Given the description of an element on the screen output the (x, y) to click on. 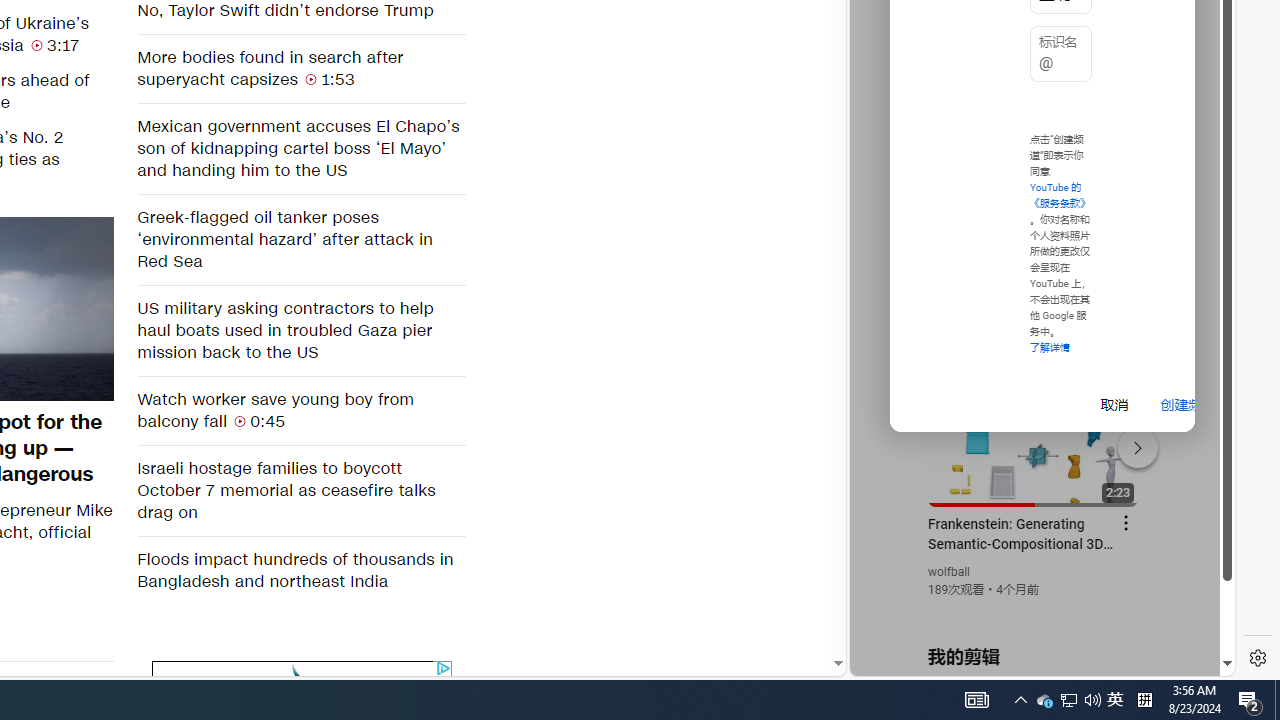
Action Center, 2 new notifications (1250, 699)
